Given the description of an element on the screen output the (x, y) to click on. 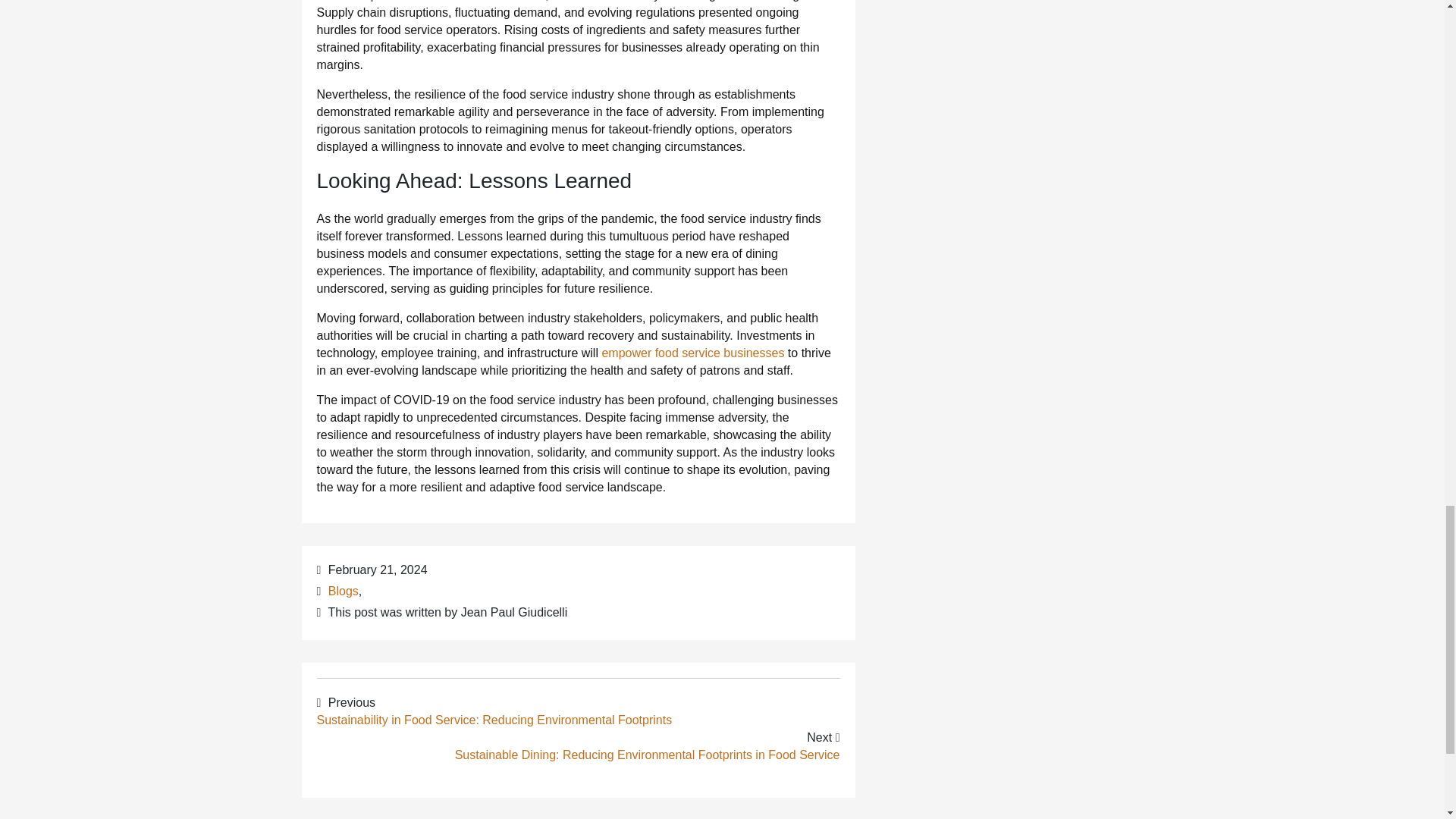
Blogs (343, 590)
empower food service businesses (692, 352)
